Given the description of an element on the screen output the (x, y) to click on. 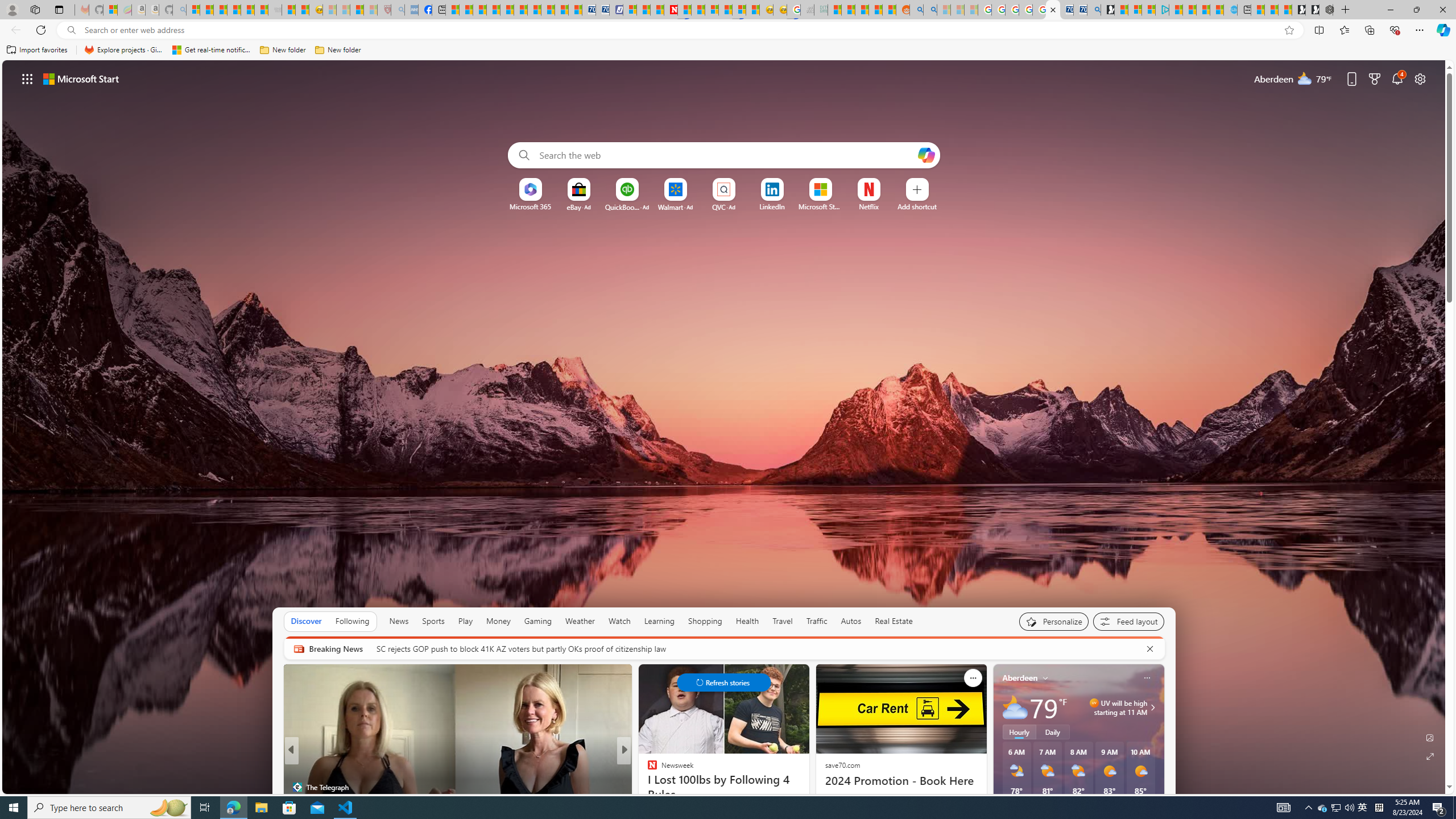
Gaming (537, 621)
Newsweek - News, Analysis, Politics, Business, Technology (670, 9)
Cheap Car Rentals - Save70.com (1080, 9)
Favorites bar (728, 49)
